Given the description of an element on the screen output the (x, y) to click on. 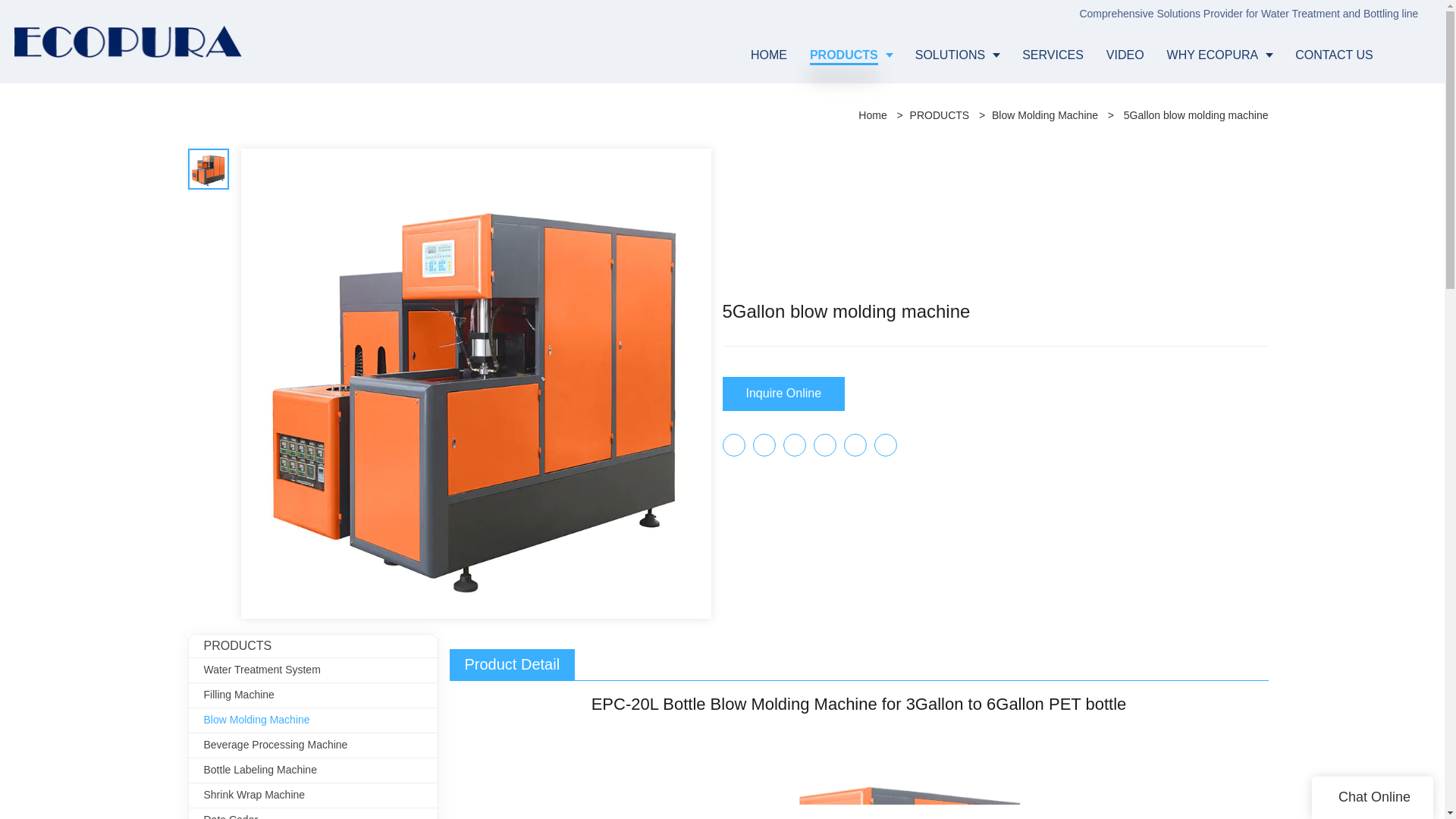
SERVICES (1052, 55)
PRODUCTS (850, 55)
VIDEO (1125, 55)
HOME (768, 55)
WHY ECOPURA (1220, 55)
SOLUTIONS (957, 55)
CONTACT US (1334, 55)
Blow Molding Machine (1044, 114)
PRODUCTS (939, 114)
Home (872, 114)
